Given the description of an element on the screen output the (x, y) to click on. 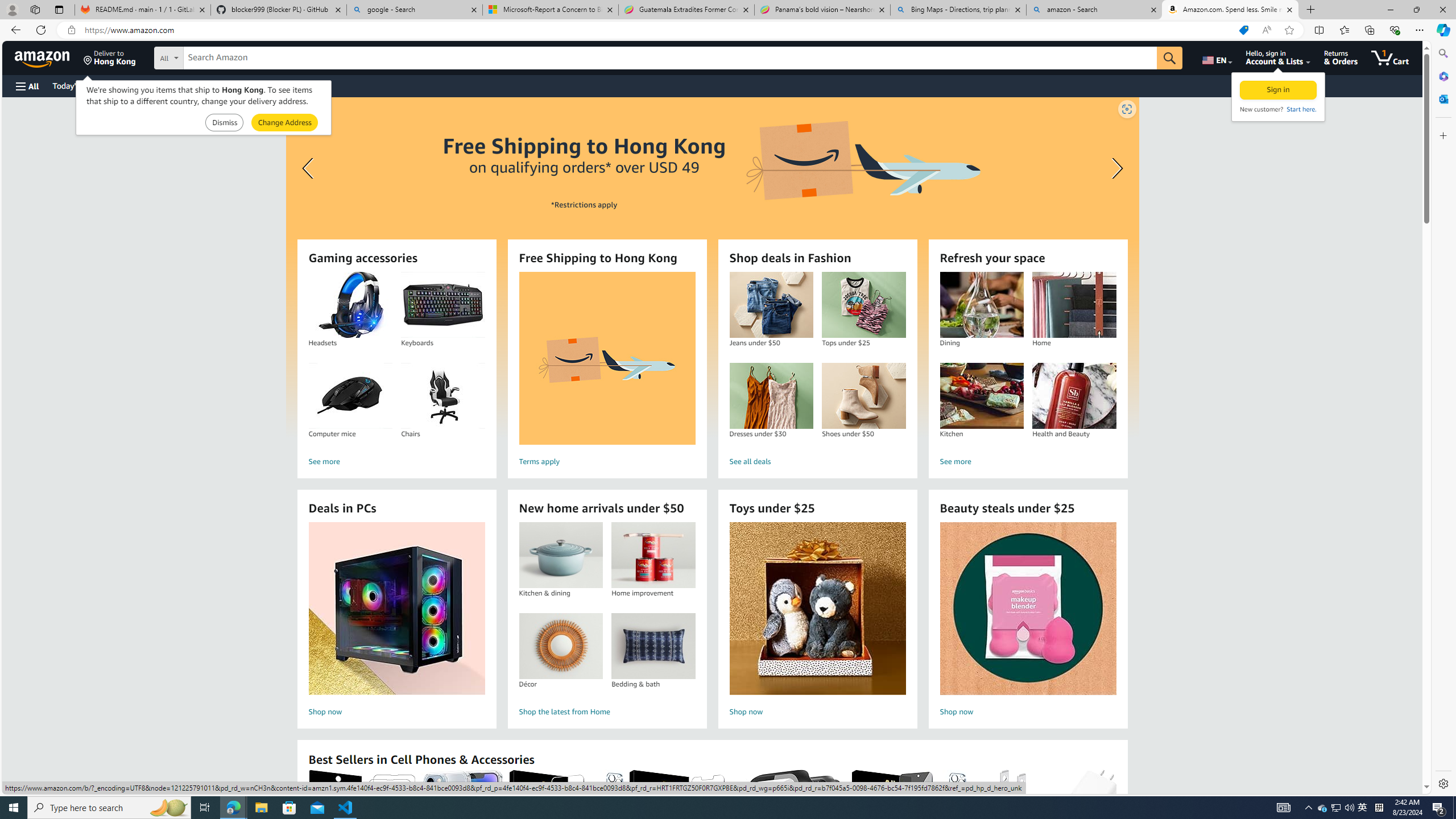
Headsets (350, 304)
